Given the description of an element on the screen output the (x, y) to click on. 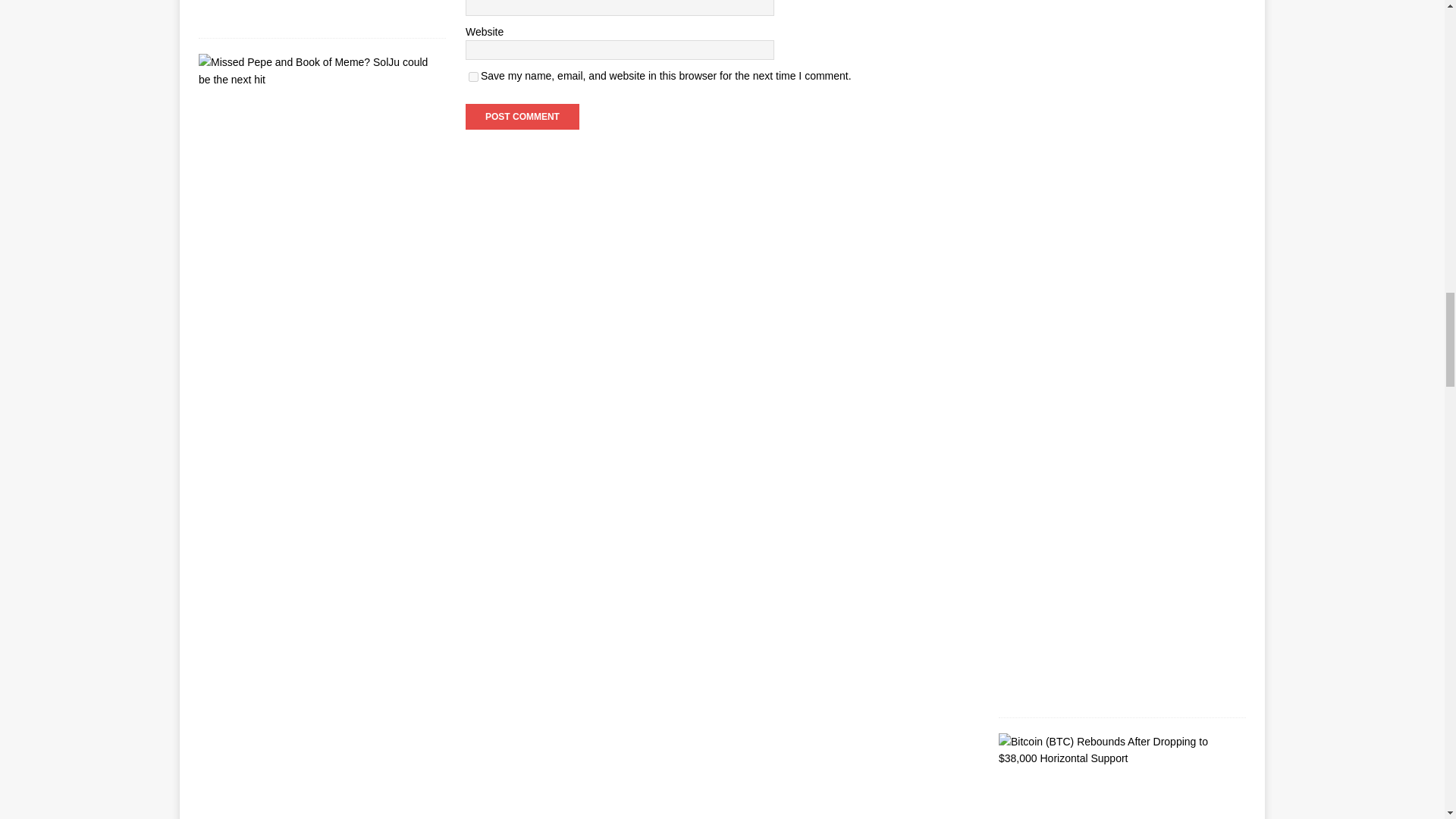
Post Comment (522, 116)
yes (473, 76)
